Given the description of an element on the screen output the (x, y) to click on. 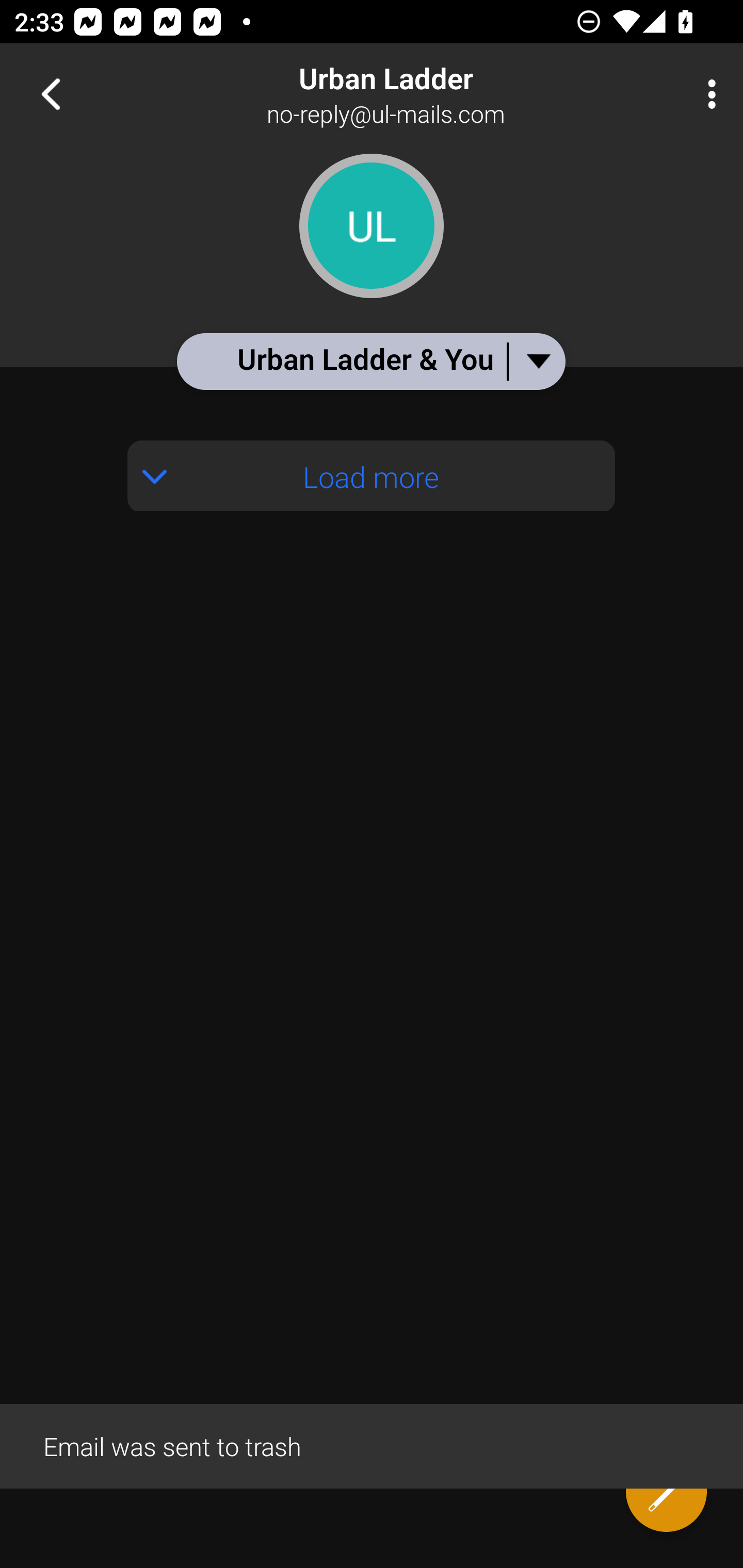
Navigate up (50, 93)
Urban Ladder no-reply@ul-mails.com (436, 93)
More Options (706, 93)
Urban Ladder & You (370, 361)
Load more (371, 475)
Email was sent to trash (371, 1445)
